Given the description of an element on the screen output the (x, y) to click on. 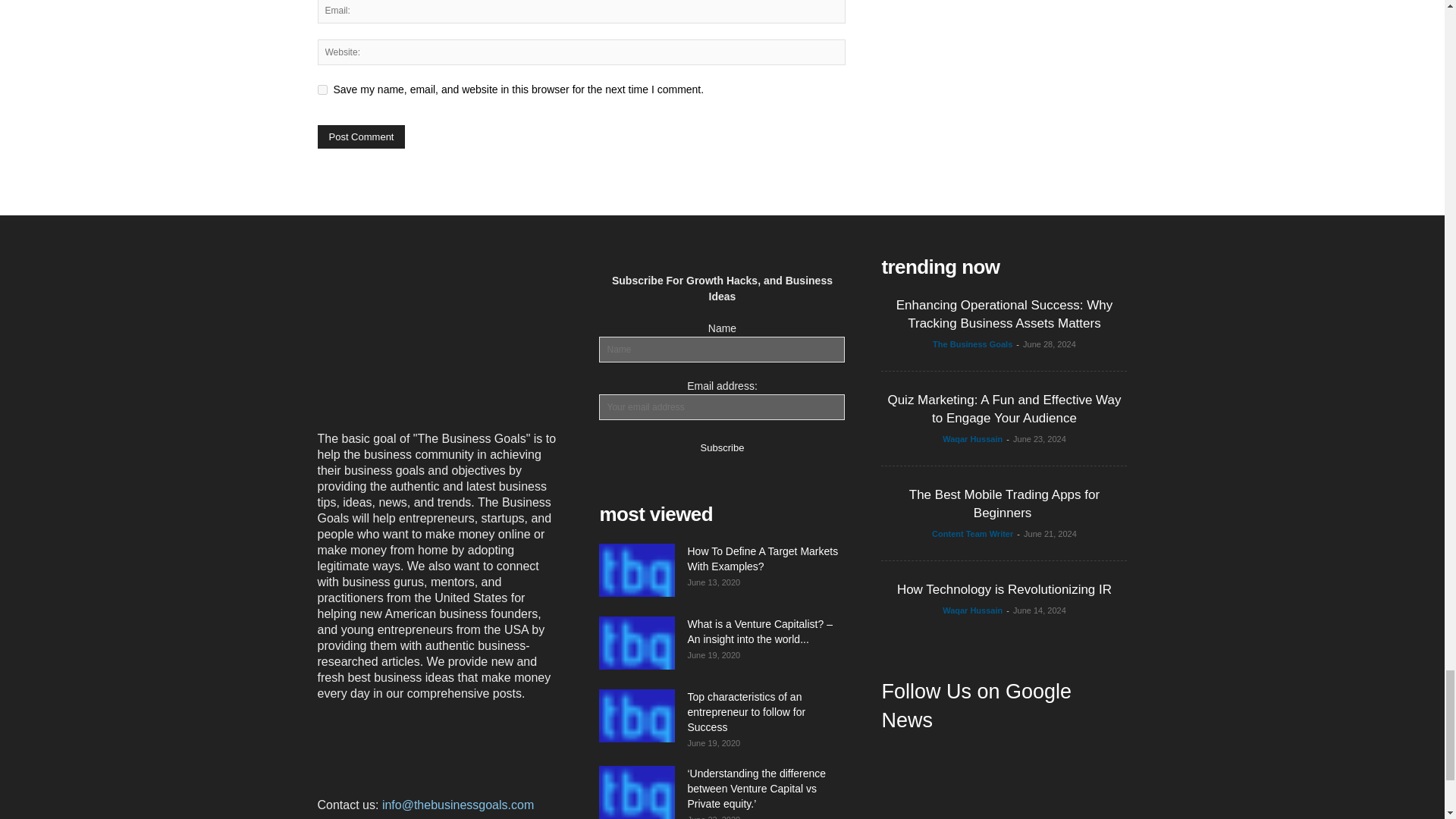
yes (321, 90)
Post Comment (360, 136)
Subscribe (721, 446)
